Given the description of an element on the screen output the (x, y) to click on. 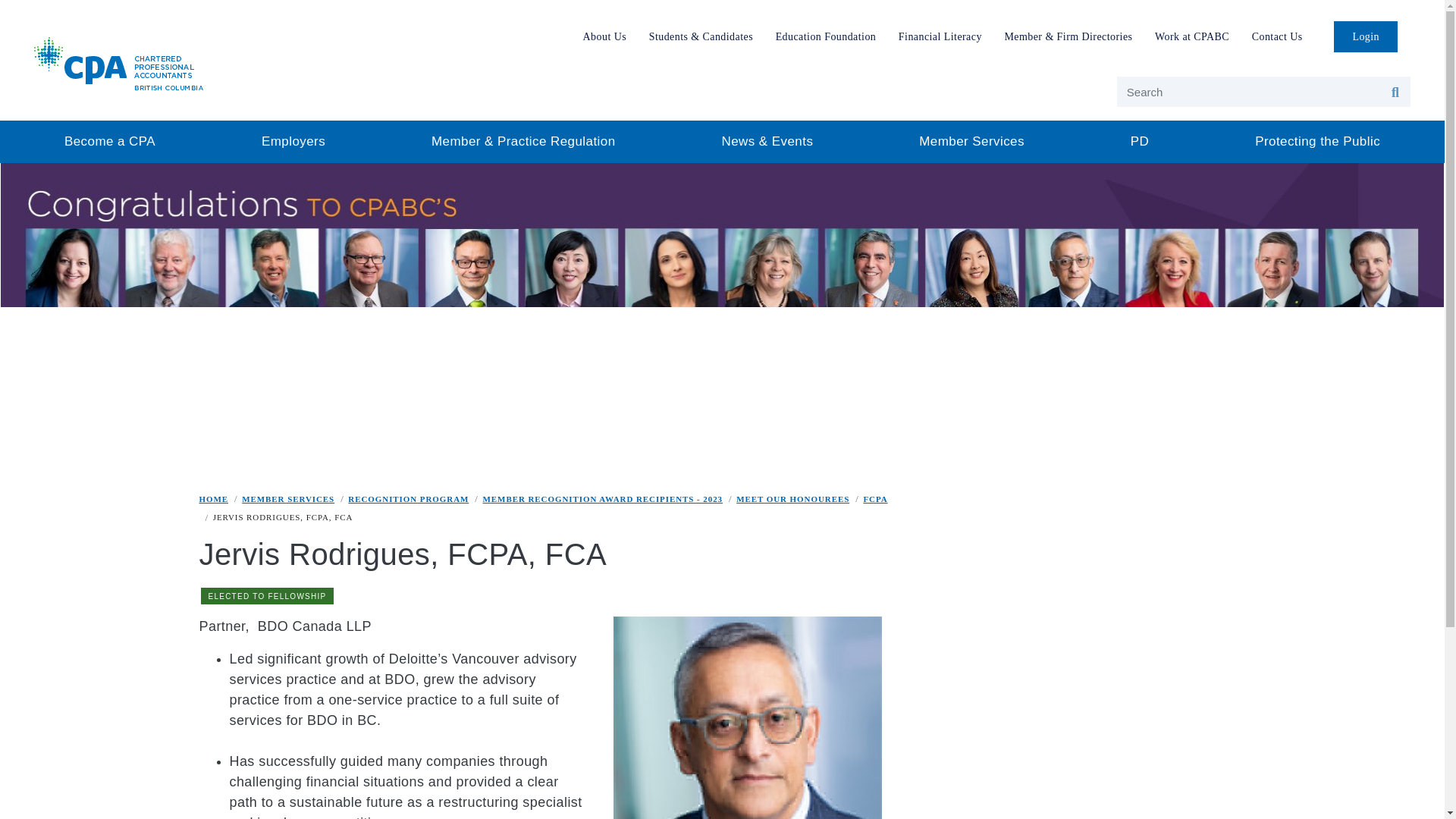
Employers (293, 141)
PD (1139, 141)
FCPA (874, 498)
Contact Us (1276, 36)
MEET OUR HONOUREES (792, 498)
Become a CPA (109, 141)
Financial Literacy (940, 36)
Education Foundation (825, 36)
Work at CPABC (1192, 36)
RECOGNITION PROGRAM (407, 498)
